Given the description of an element on the screen output the (x, y) to click on. 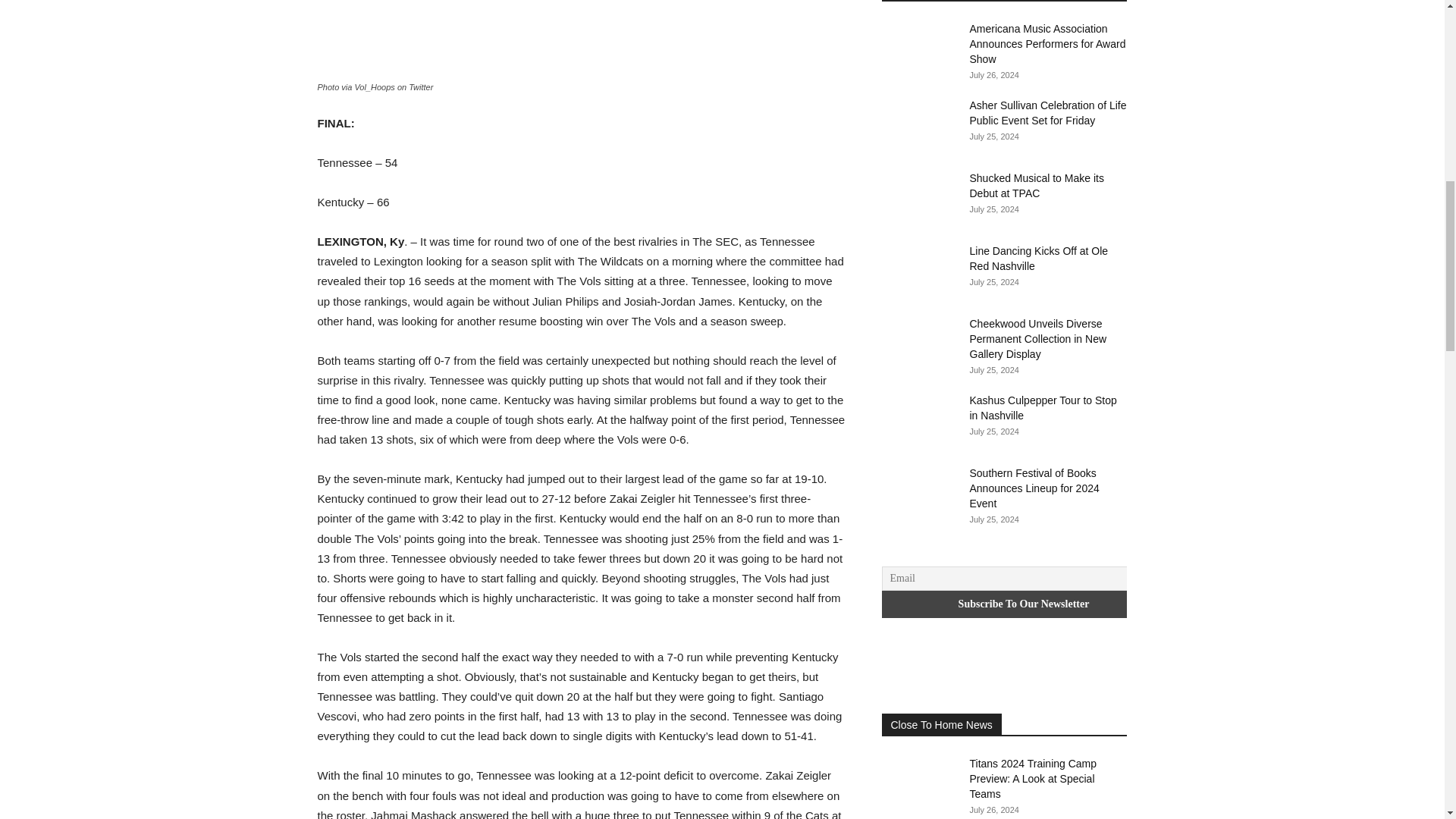
Subscribe To Our Newsletter (1023, 604)
